Given the description of an element on the screen output the (x, y) to click on. 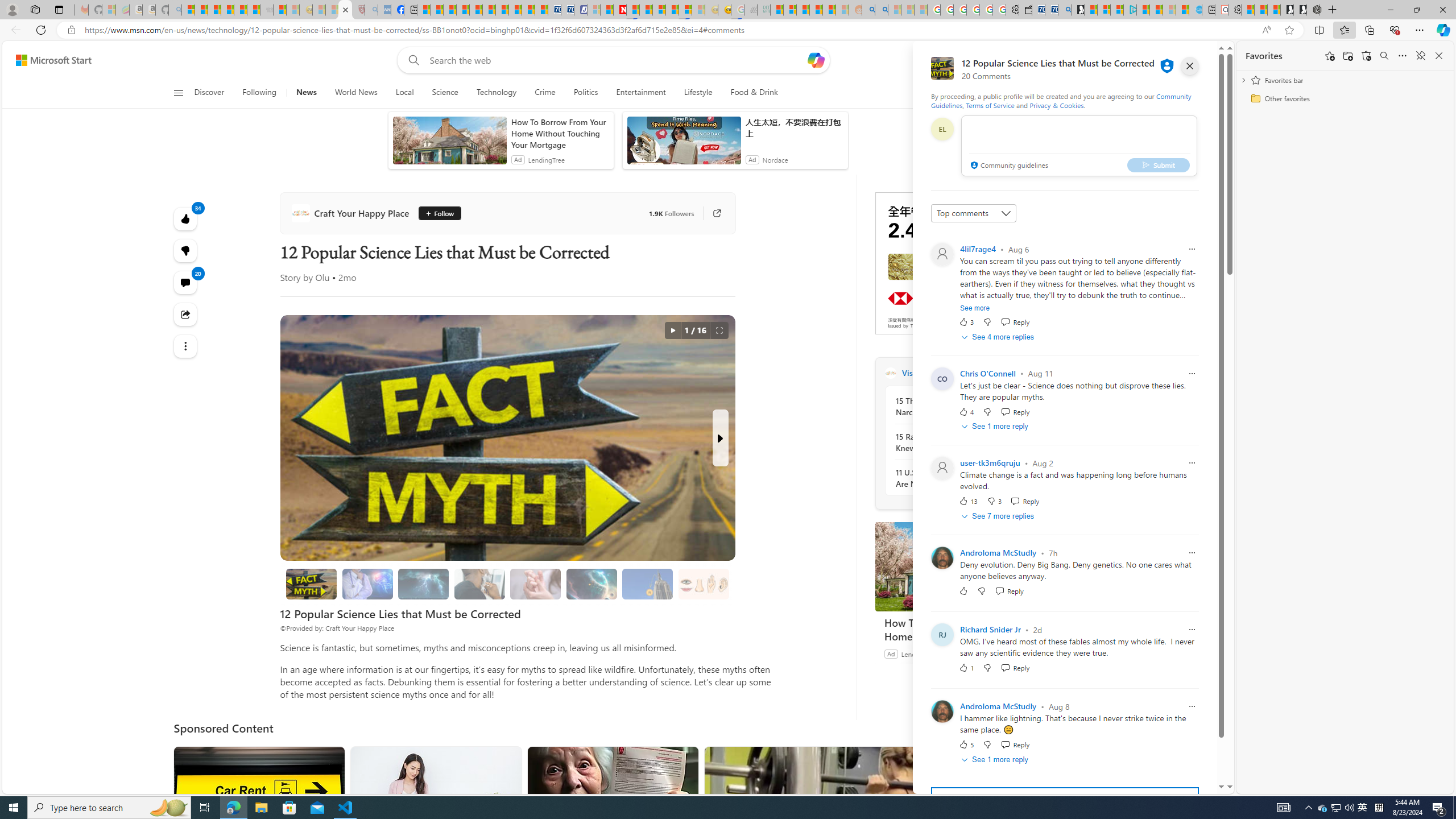
Go to publisher's site (716, 213)
Terms of Service (989, 104)
Bing Real Estate - Home sales and rental listings (1063, 9)
Richard Snider Jr (989, 629)
